Given the description of an element on the screen output the (x, y) to click on. 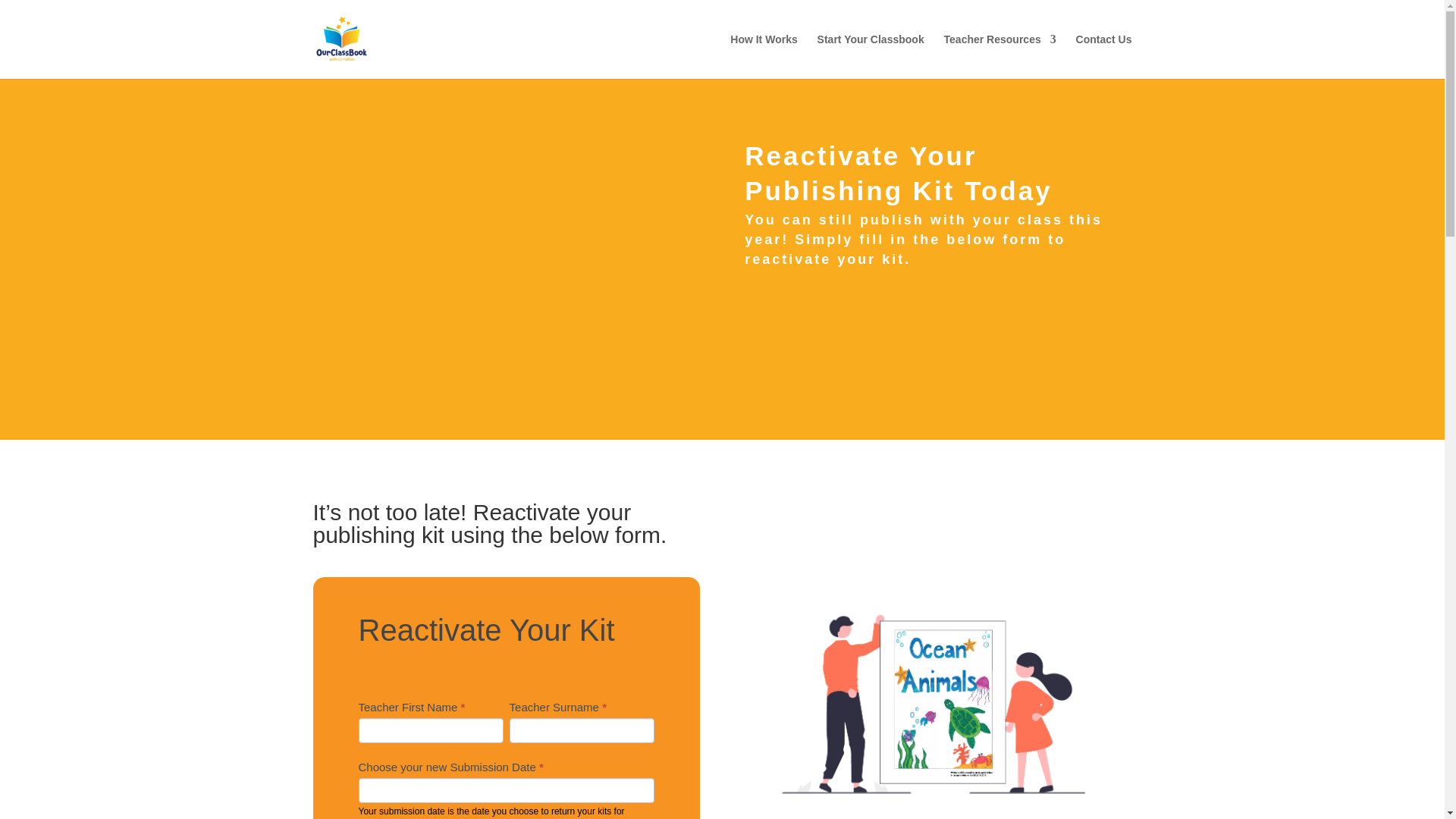
Teacher Resources (1000, 56)
Contact Us (1103, 56)
Start Your Classbook (870, 56)
How It Works (763, 56)
